Given the description of an element on the screen output the (x, y) to click on. 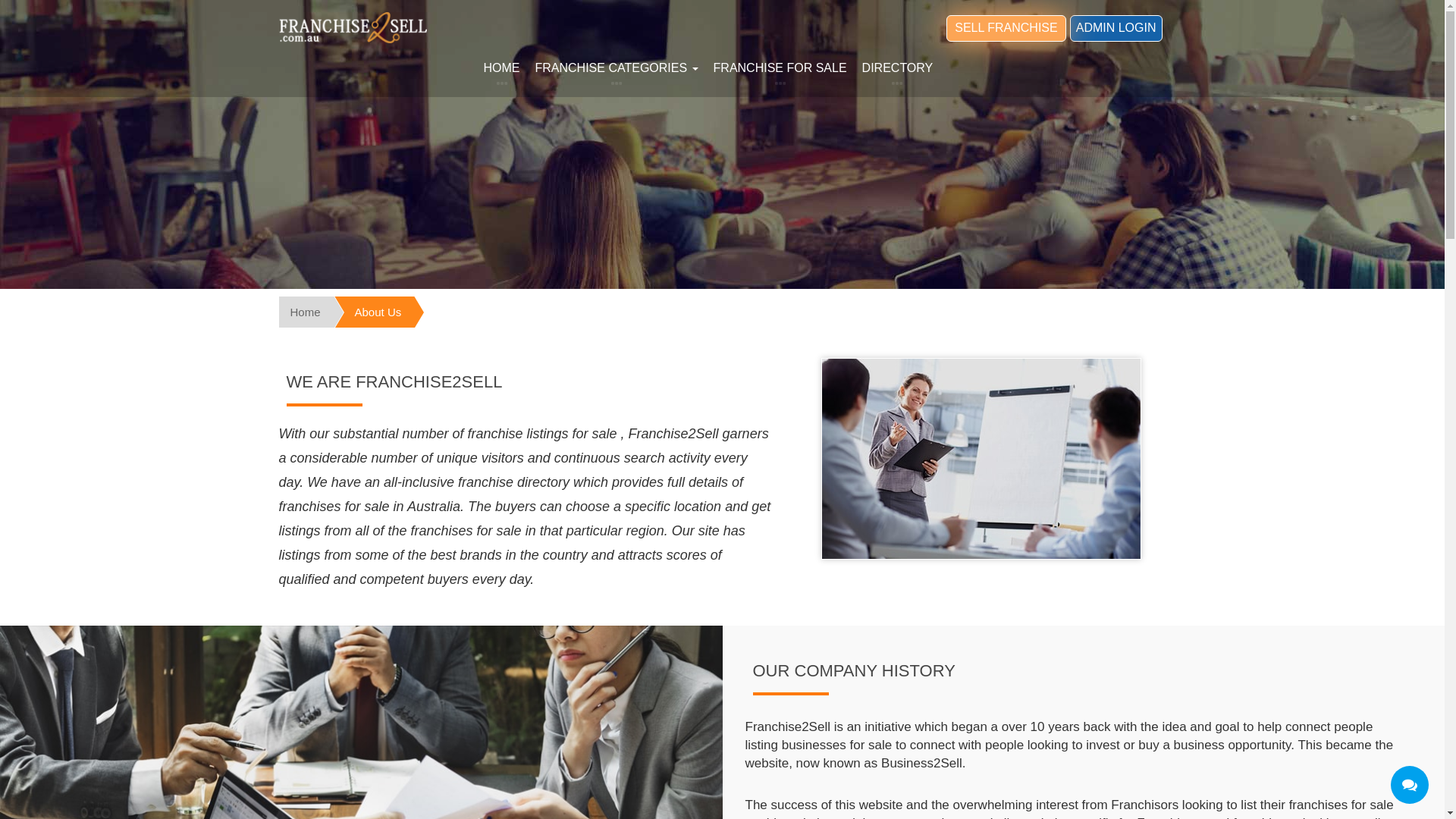
DIRECTORY Element type: text (897, 69)
FRANCHISE CATEGORIES Element type: text (616, 69)
Home Element type: text (299, 311)
SELL FRANCHISE Element type: text (1005, 28)
About Us Element type: text (360, 311)
FRANCHISE FOR SALE Element type: text (780, 69)
HOME Element type: text (501, 69)
ADMIN LOGIN Element type: text (1116, 28)
